Given the description of an element on the screen output the (x, y) to click on. 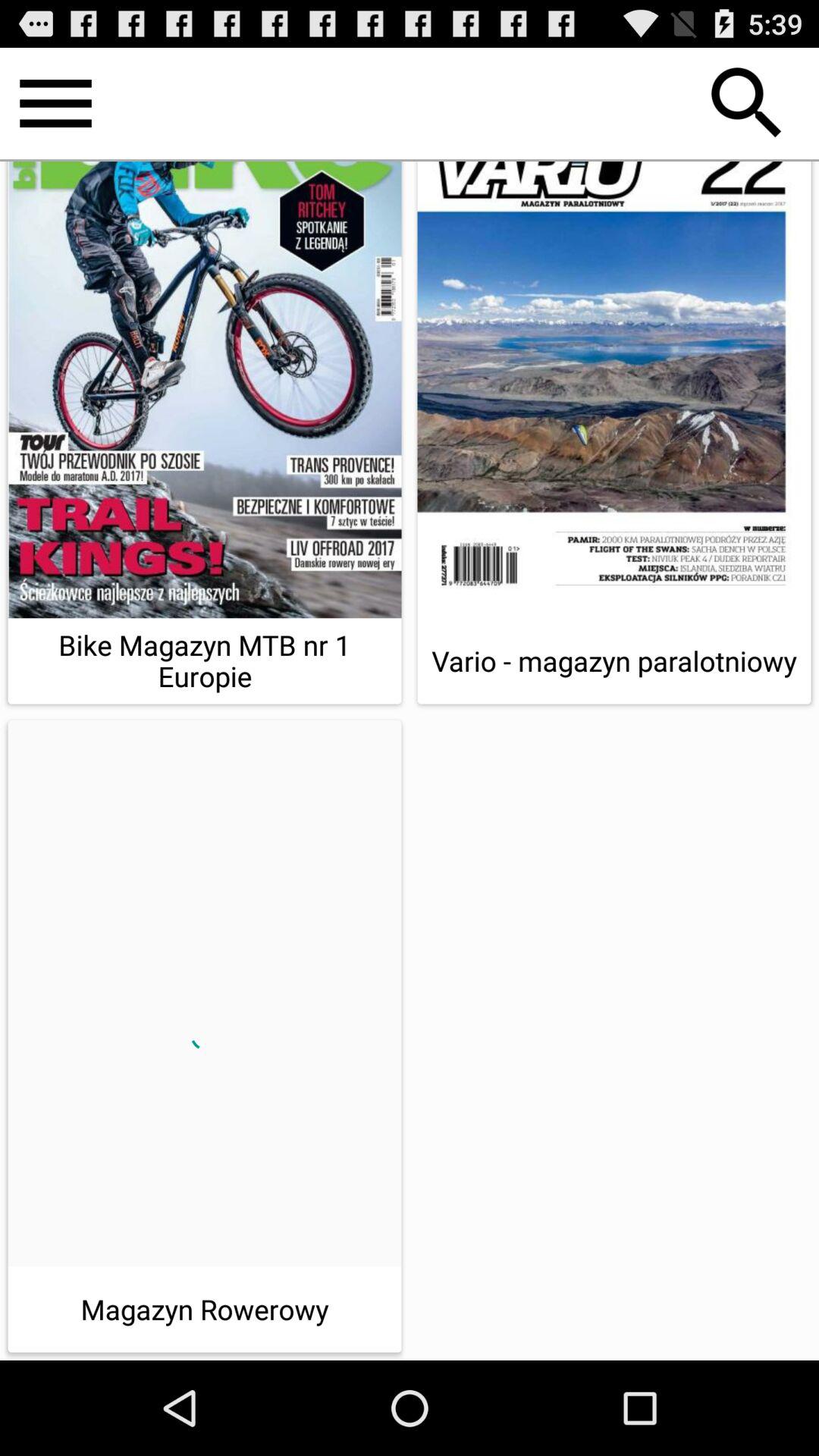
open menu (55, 103)
